Given the description of an element on the screen output the (x, y) to click on. 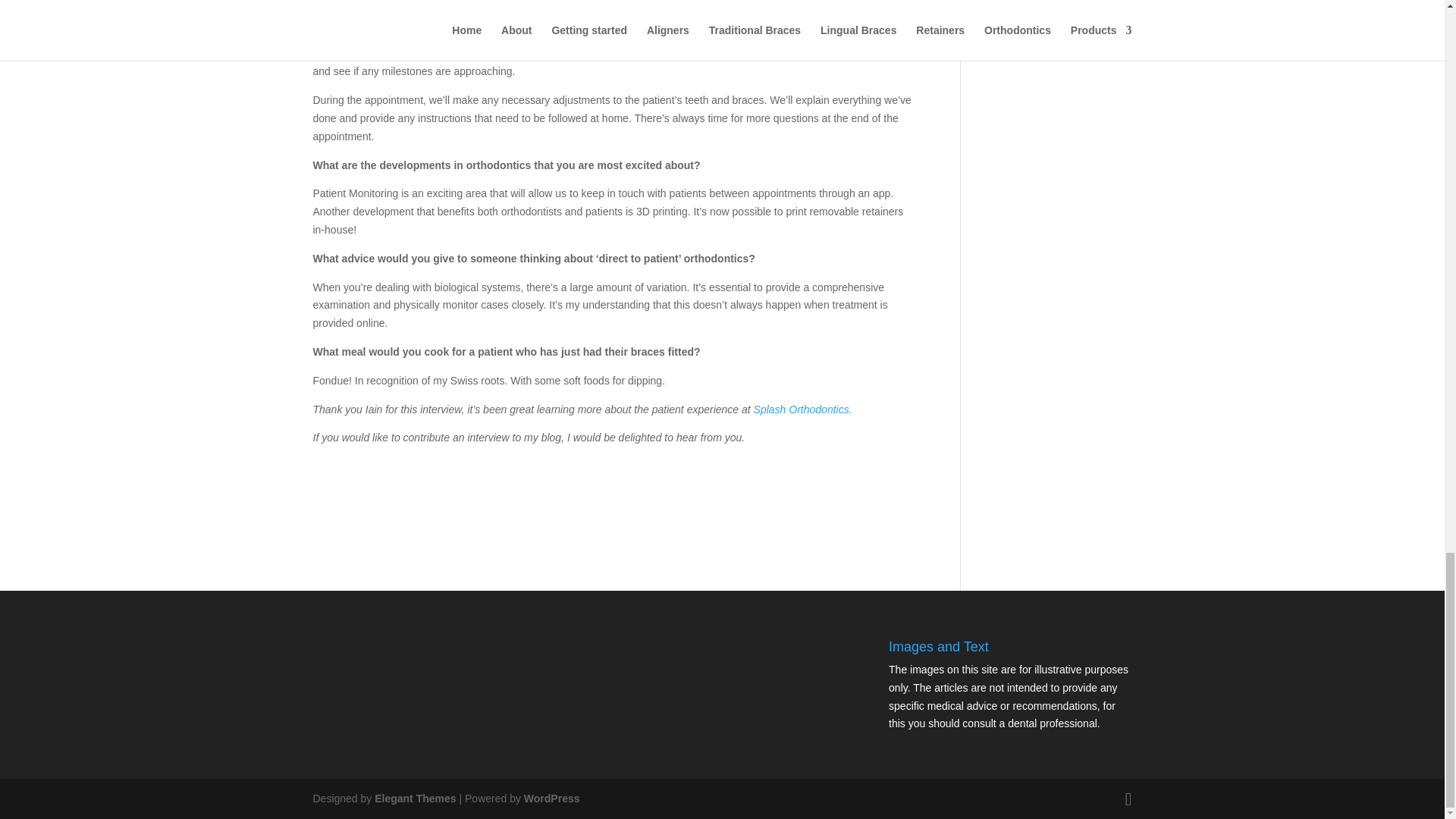
Splash Orthodontics. (802, 409)
WordPress (551, 798)
Premium WordPress Themes (414, 798)
Elegant Themes (414, 798)
